Given the description of an element on the screen output the (x, y) to click on. 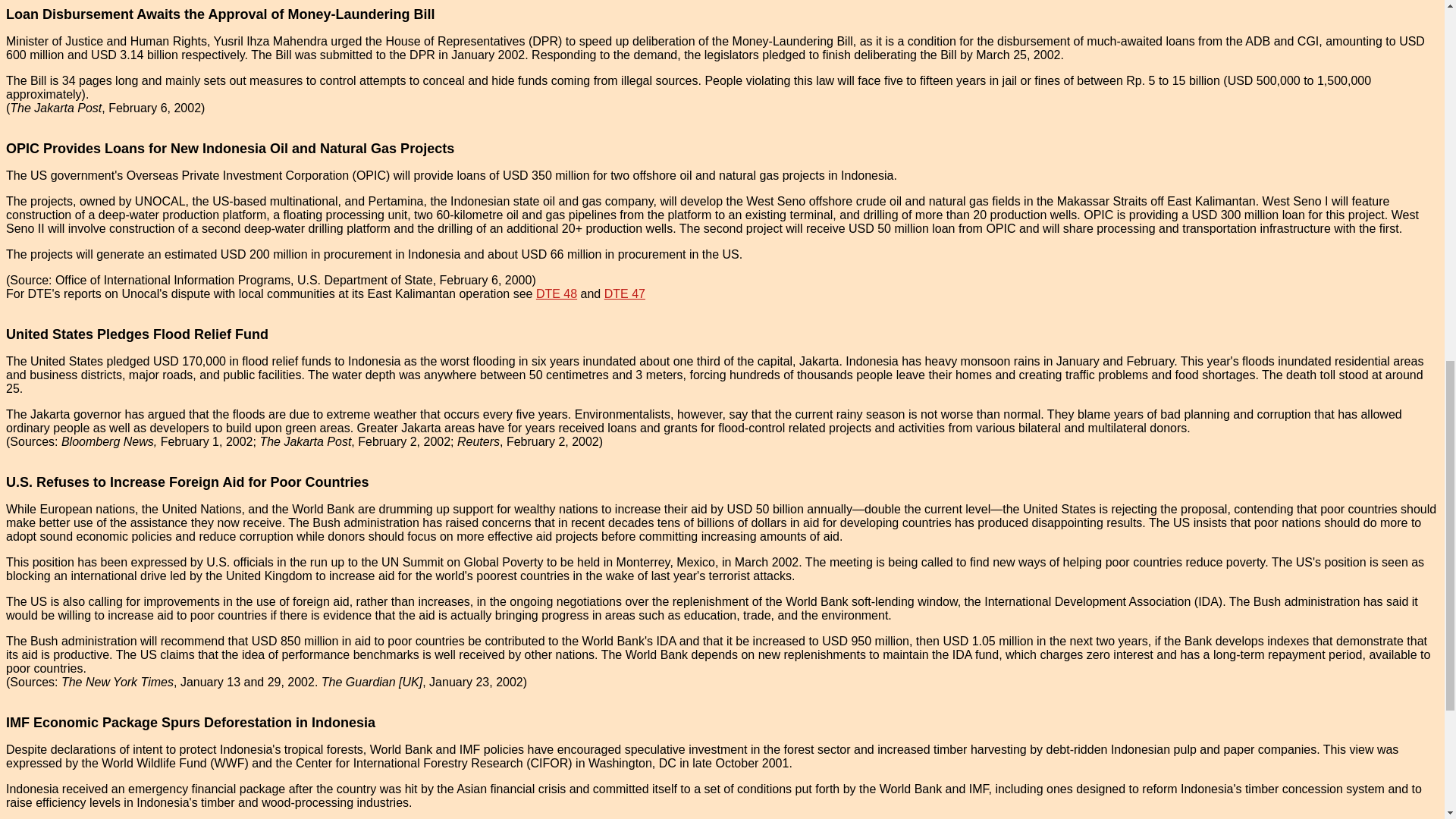
DTE 48 (555, 293)
DTE 47 (624, 293)
